Given the description of an element on the screen output the (x, y) to click on. 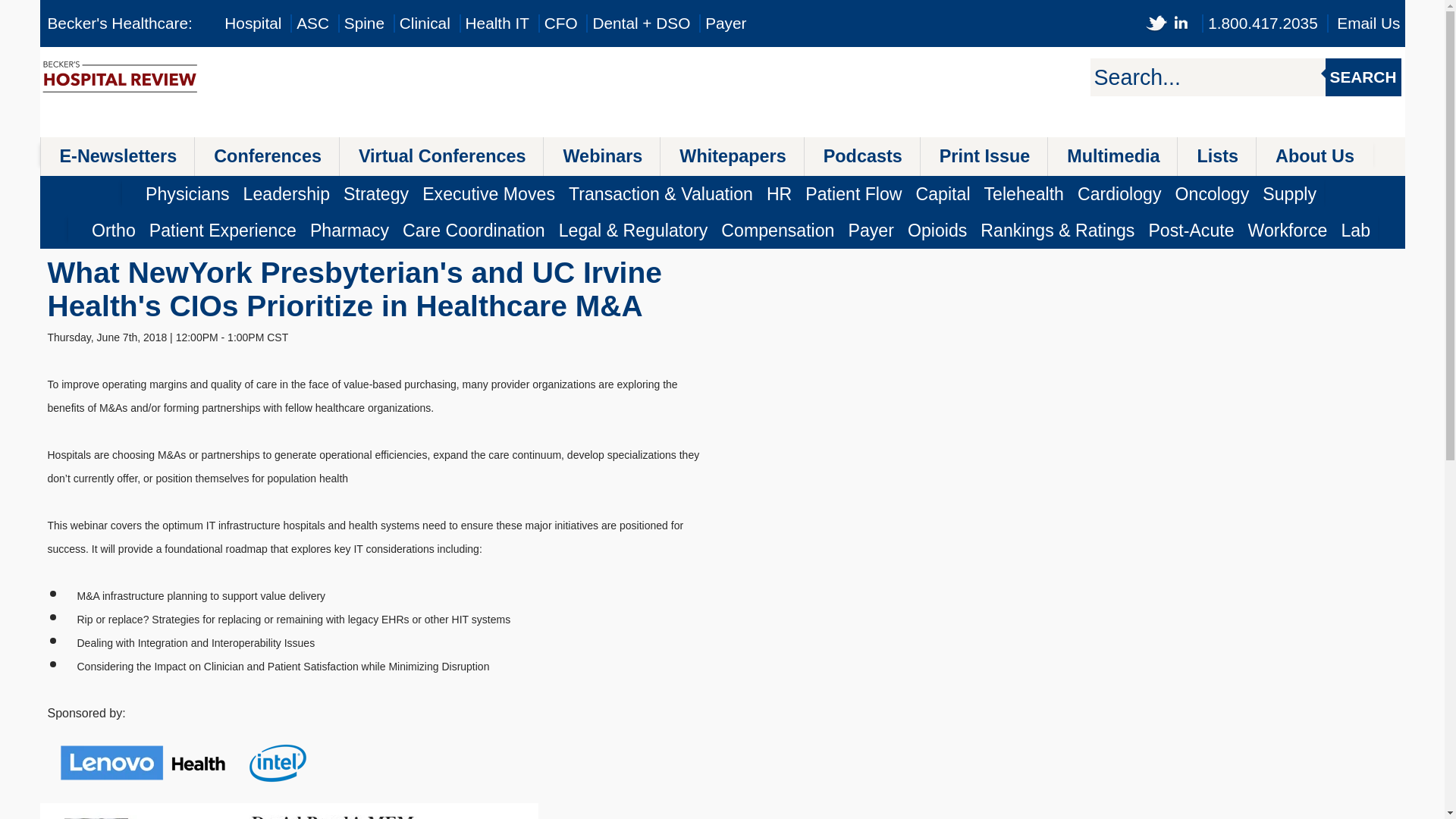
Hospital (252, 22)
Payer (724, 22)
Becker's ASC Review (313, 22)
Clinical (423, 22)
Spine (363, 22)
Health IT (497, 22)
Email Us (1367, 22)
Becker's Spine Review (363, 22)
Becker's Hospital Review (252, 22)
Becker's Dental Review (641, 22)
Becker's CFO (561, 22)
Becker's Payer Issues (724, 22)
SEARCH (1362, 77)
Becker's Health IT (497, 22)
ASC (313, 22)
